Given the description of an element on the screen output the (x, y) to click on. 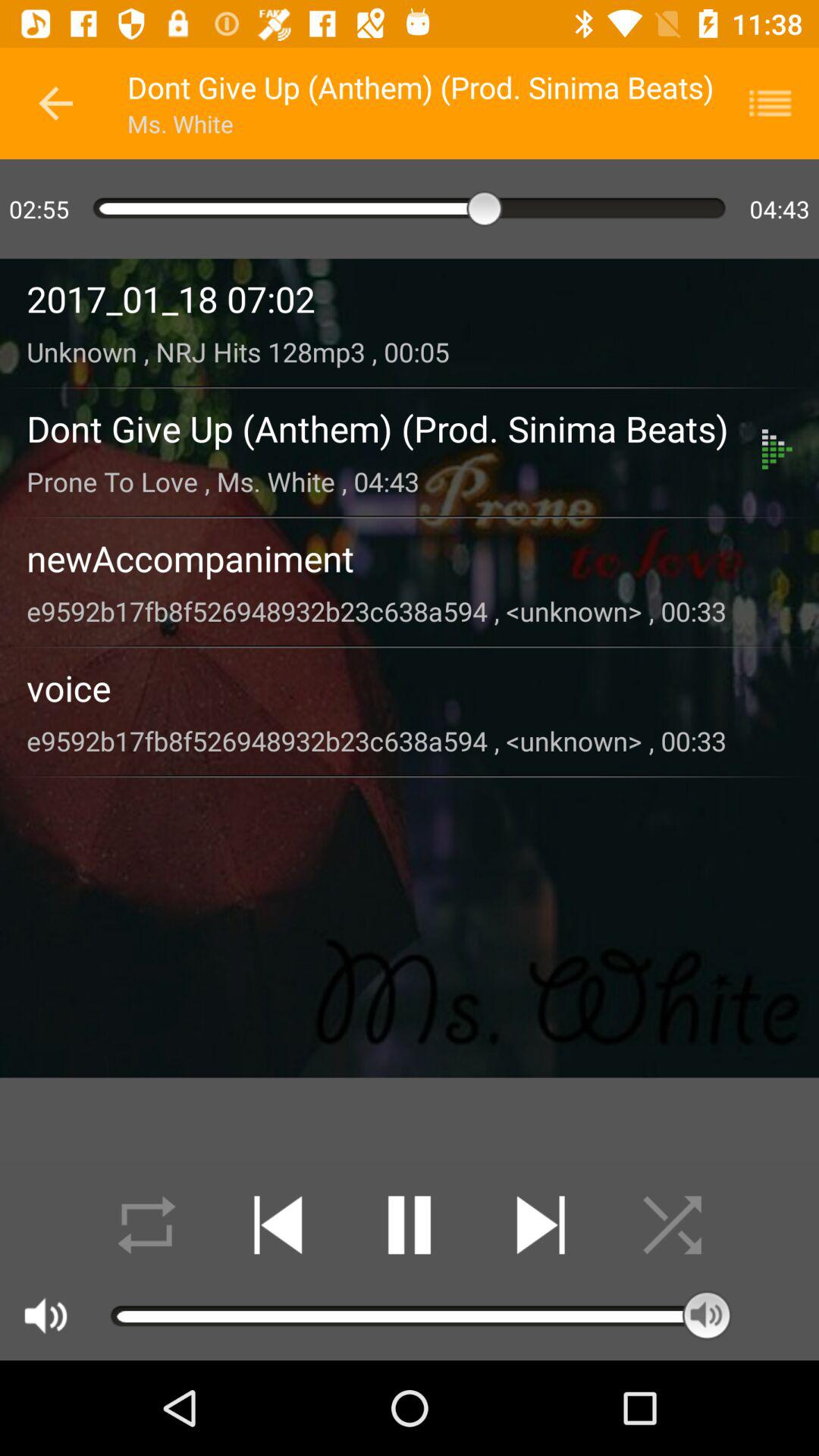
select item above the e9592b17fb8f526948932b23c638a594 unknown 00 icon (409, 687)
